Given the description of an element on the screen output the (x, y) to click on. 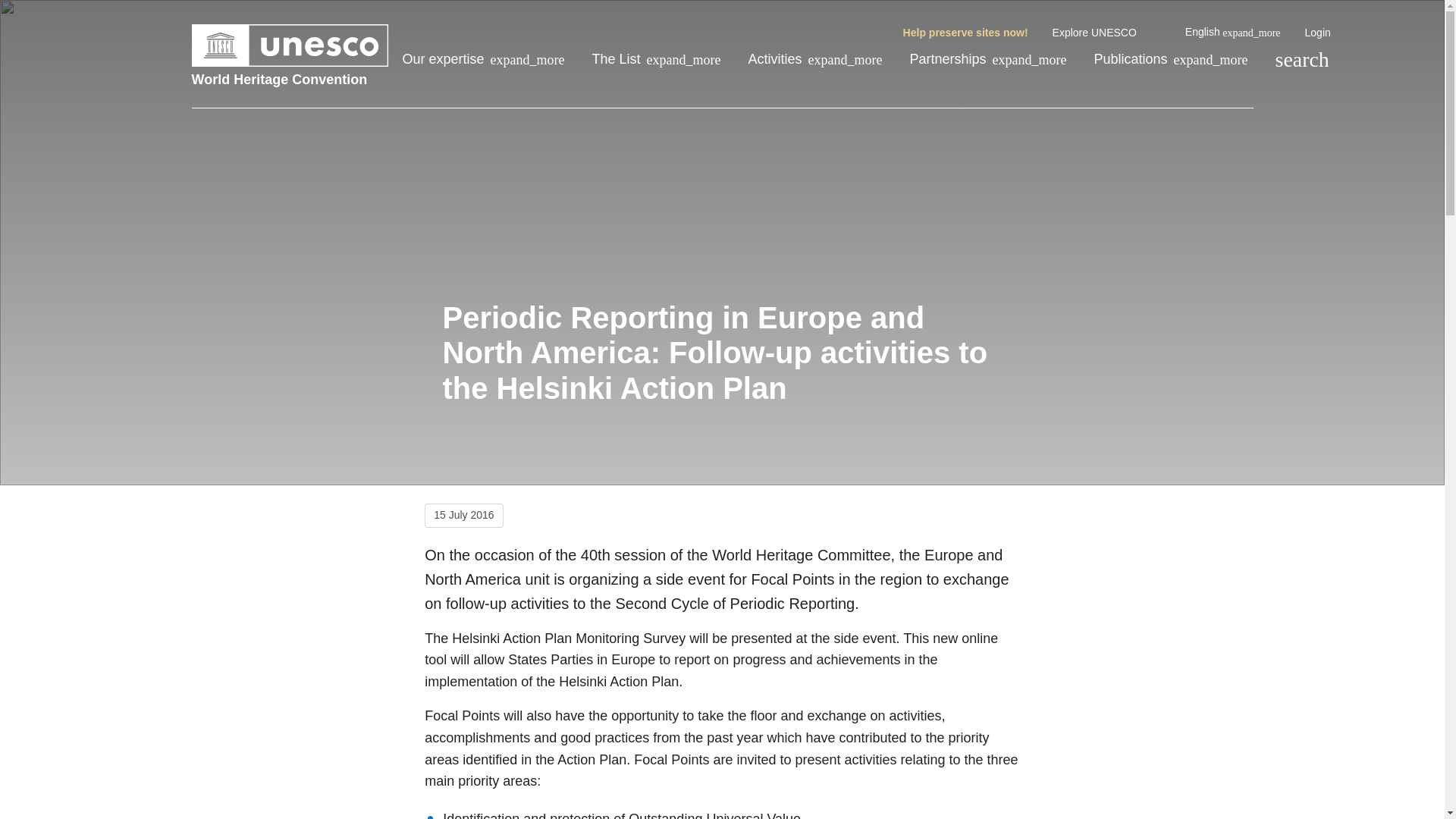
Help preserve sites now! (964, 32)
Our expertise (482, 58)
English (1233, 32)
World Heritage Convention (289, 79)
Login (1317, 32)
Explore UNESCO (1106, 32)
Search (1302, 59)
The List (656, 58)
